Given the description of an element on the screen output the (x, y) to click on. 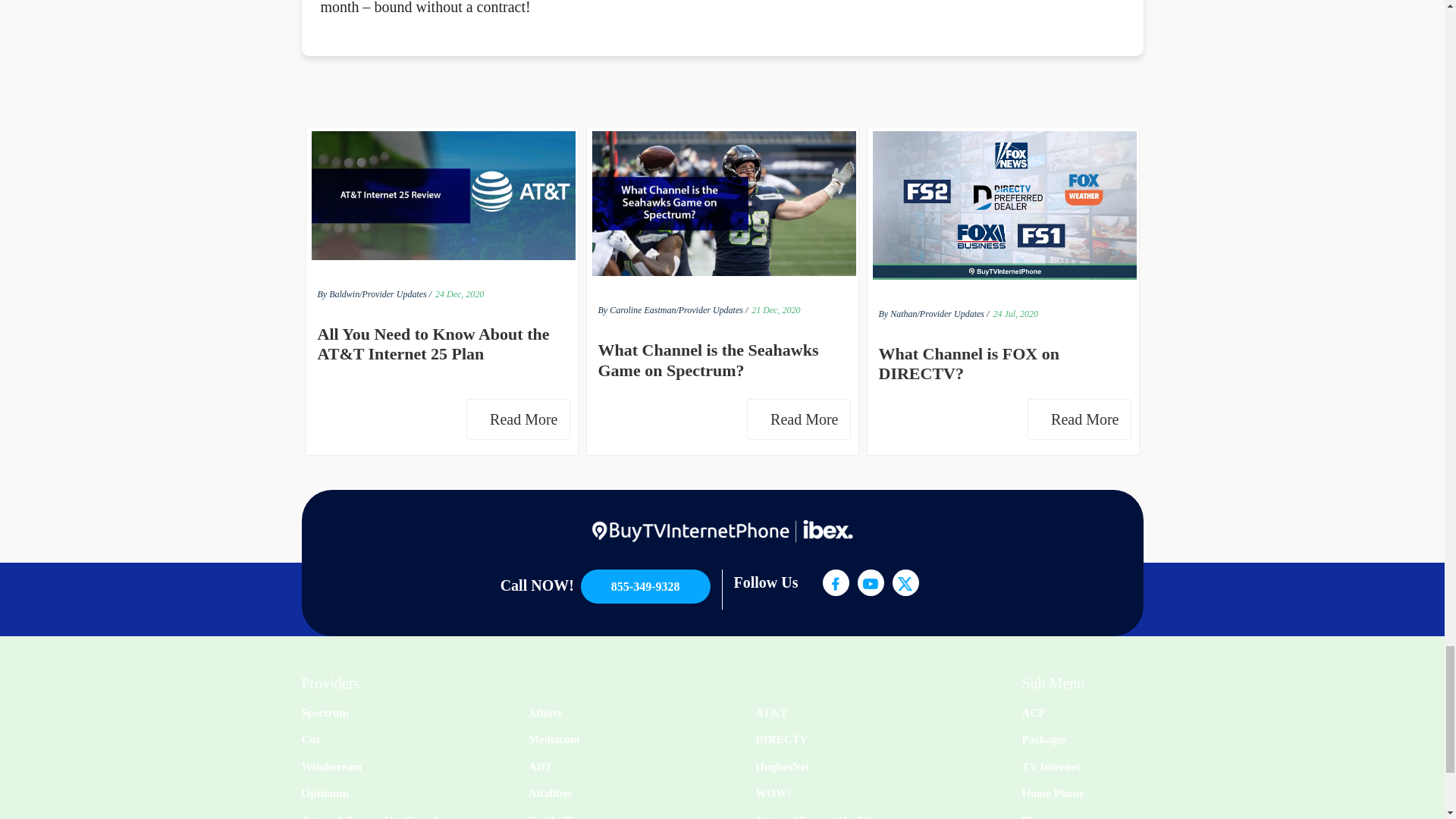
What Channel is the Seahawks Game on Spectrum? (720, 360)
Read More   (1079, 418)
Read More   (517, 418)
What Channel is FOX on DIRECTV? (1001, 363)
Read More   (798, 418)
